Given the description of an element on the screen output the (x, y) to click on. 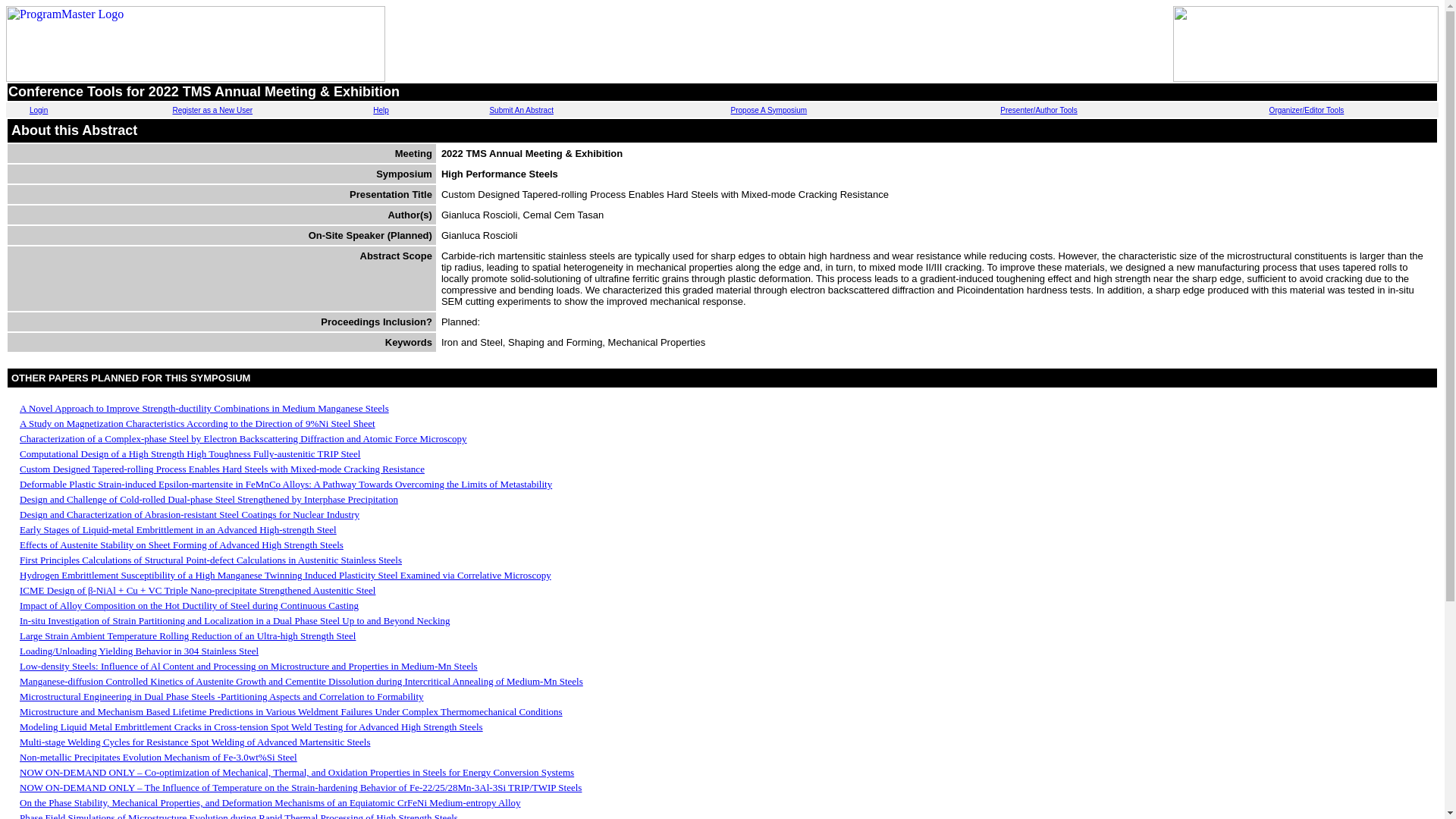
Propose A Symposium (769, 110)
Submit An Abstract (521, 110)
Register as a New User (211, 110)
Login (38, 110)
